Given the description of an element on the screen output the (x, y) to click on. 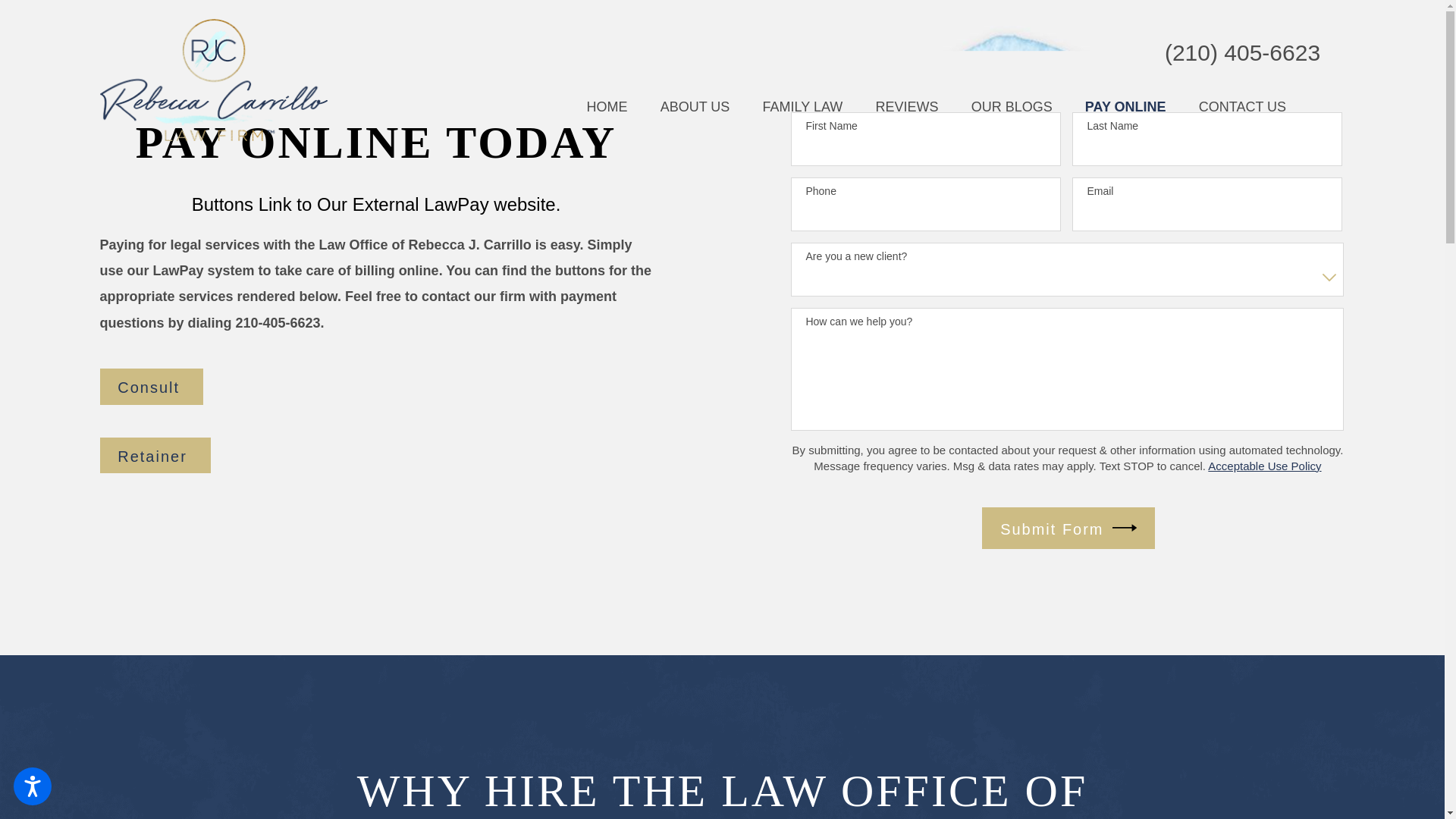
OUR BLOGS (1011, 107)
PAY ONLINE (1125, 107)
REVIEWS (906, 107)
ABOUT US (695, 107)
The Law Office of Rebecca J. Carrillo (213, 79)
CONTACT US (1241, 107)
HOME (606, 107)
FAMILY LAW (802, 107)
Open the accessibility options menu (31, 786)
